Given the description of an element on the screen output the (x, y) to click on. 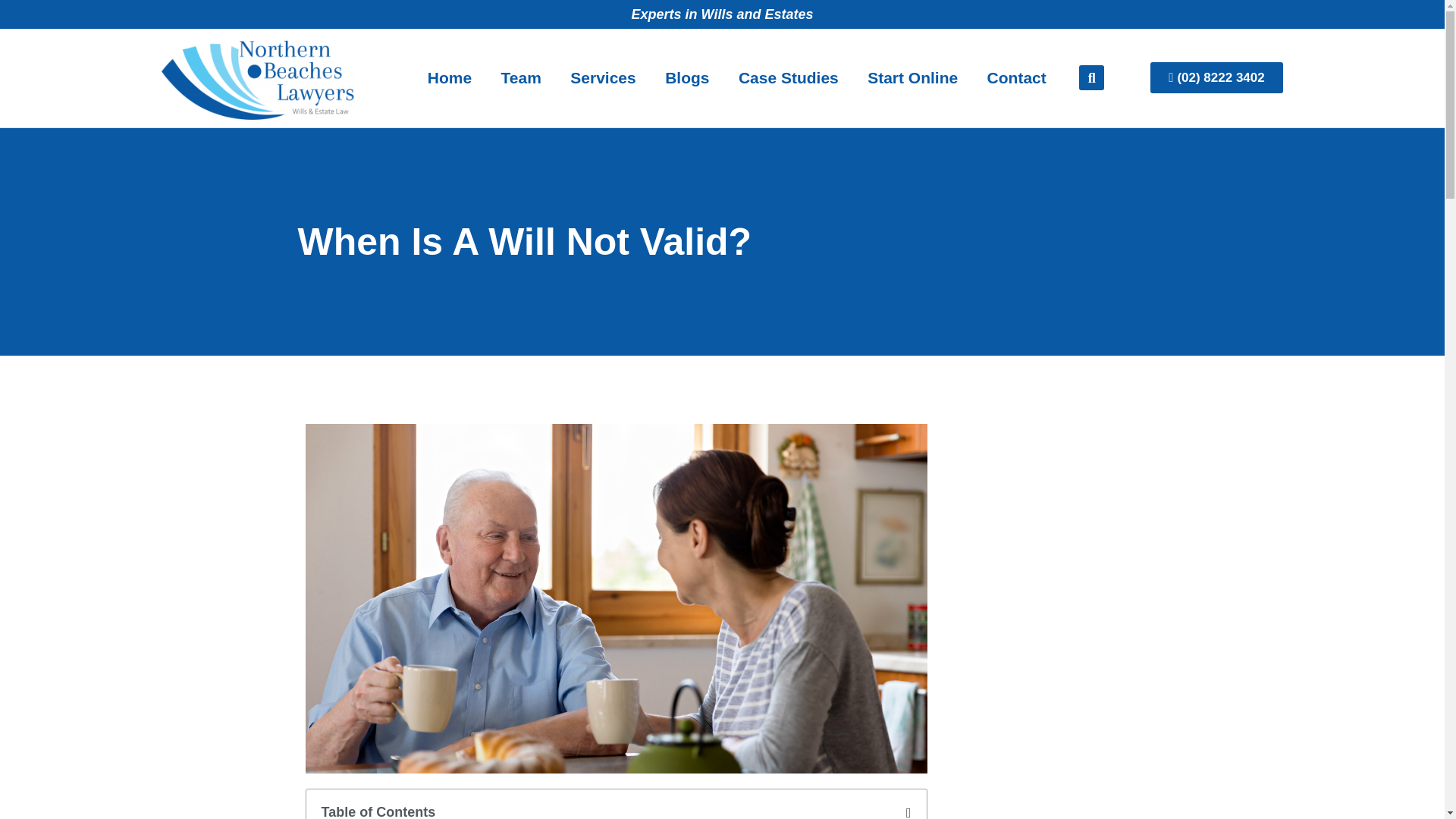
Home (449, 77)
Team (521, 77)
Start Online (912, 77)
Contact (1016, 77)
Blogs (686, 77)
Case Studies (788, 77)
Services (603, 77)
